Given the description of an element on the screen output the (x, y) to click on. 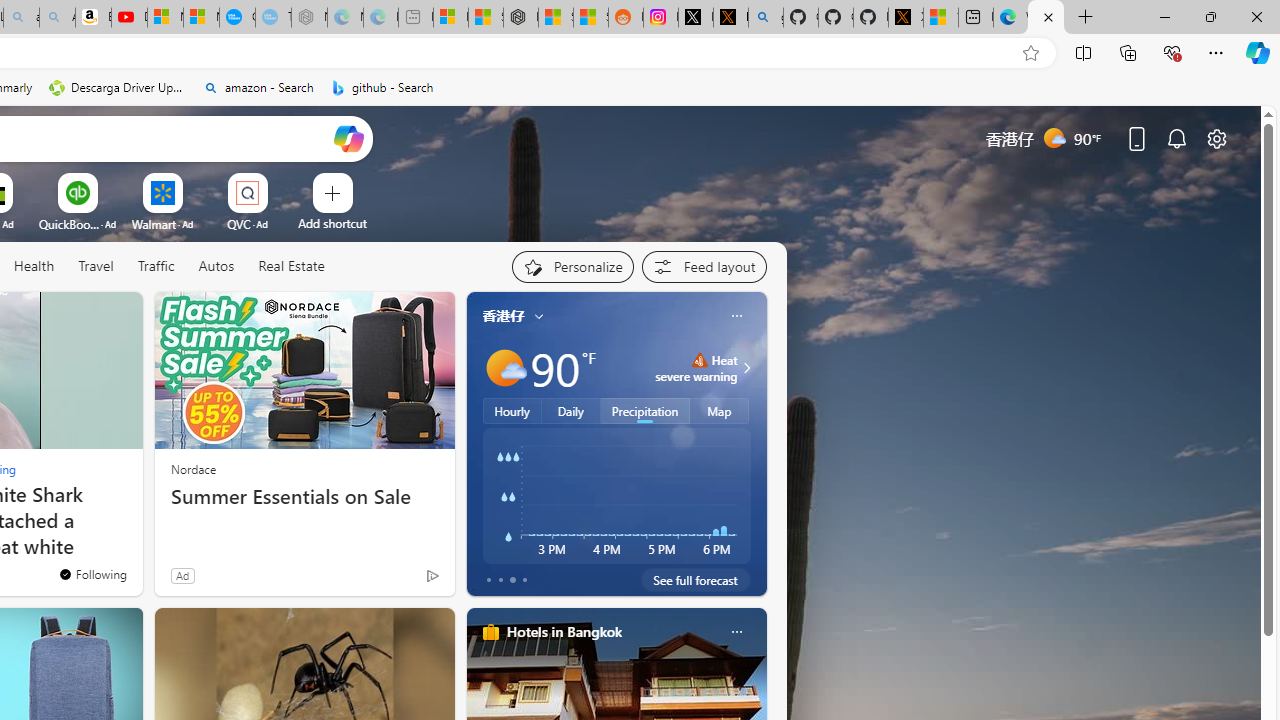
Nordace - Nordace has arrived Hong Kong - Sleeping (308, 17)
Add this page to favorites (Ctrl+D) (1030, 53)
